Given the description of an element on the screen output the (x, y) to click on. 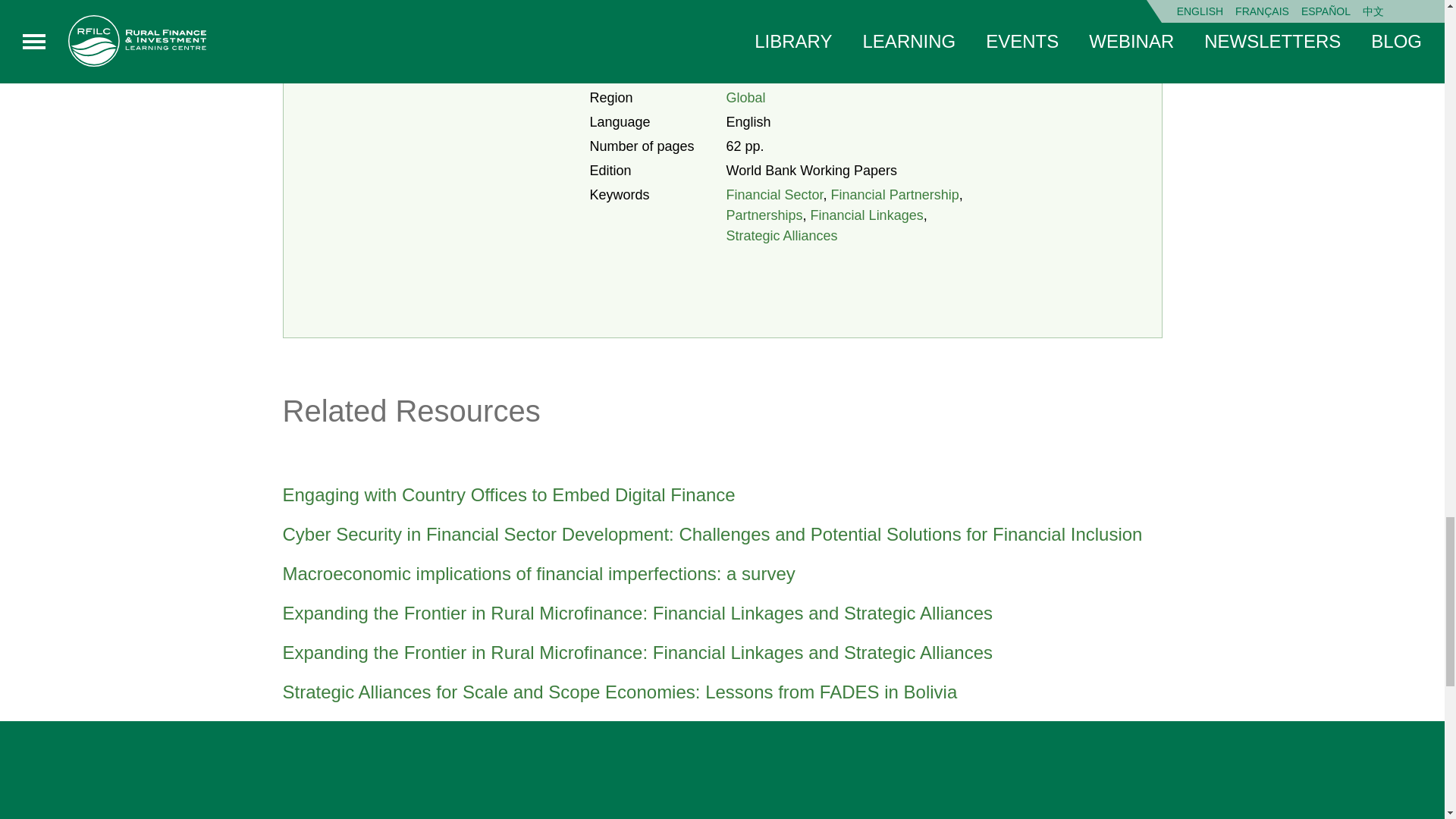
Strategic Alliances (782, 235)
Partnerships (764, 215)
Financial Sector (775, 194)
Engaging with Country Offices to Embed Digital Finance (721, 495)
Financial Partnership (895, 194)
Engaging with Country Offices to Embed Digital Finance (721, 495)
World Bank Group (782, 48)
Global (745, 97)
